Given the description of an element on the screen output the (x, y) to click on. 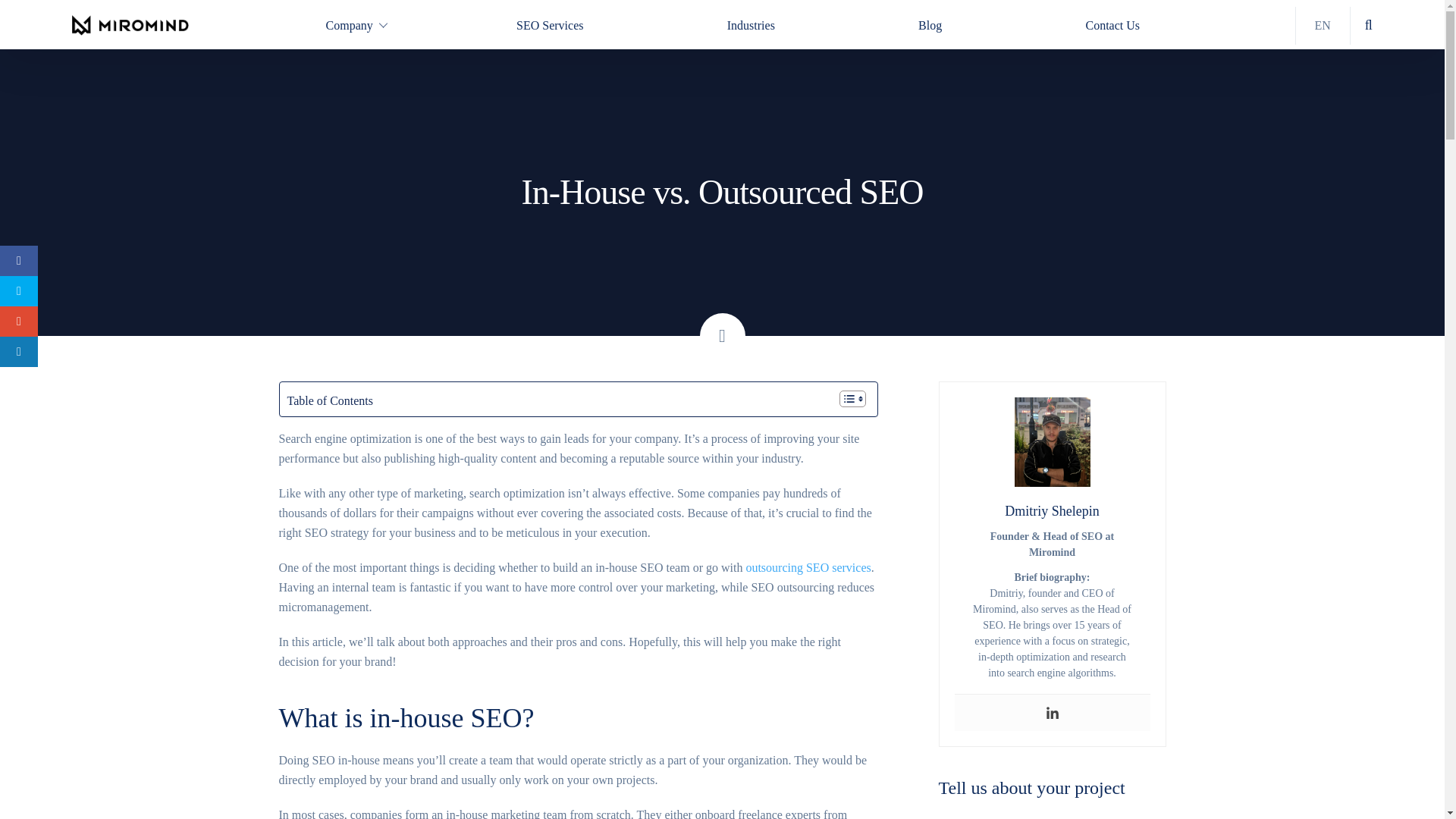
SEO Services (549, 25)
Blog (929, 25)
Company (349, 25)
Industries (750, 25)
